Given the description of an element on the screen output the (x, y) to click on. 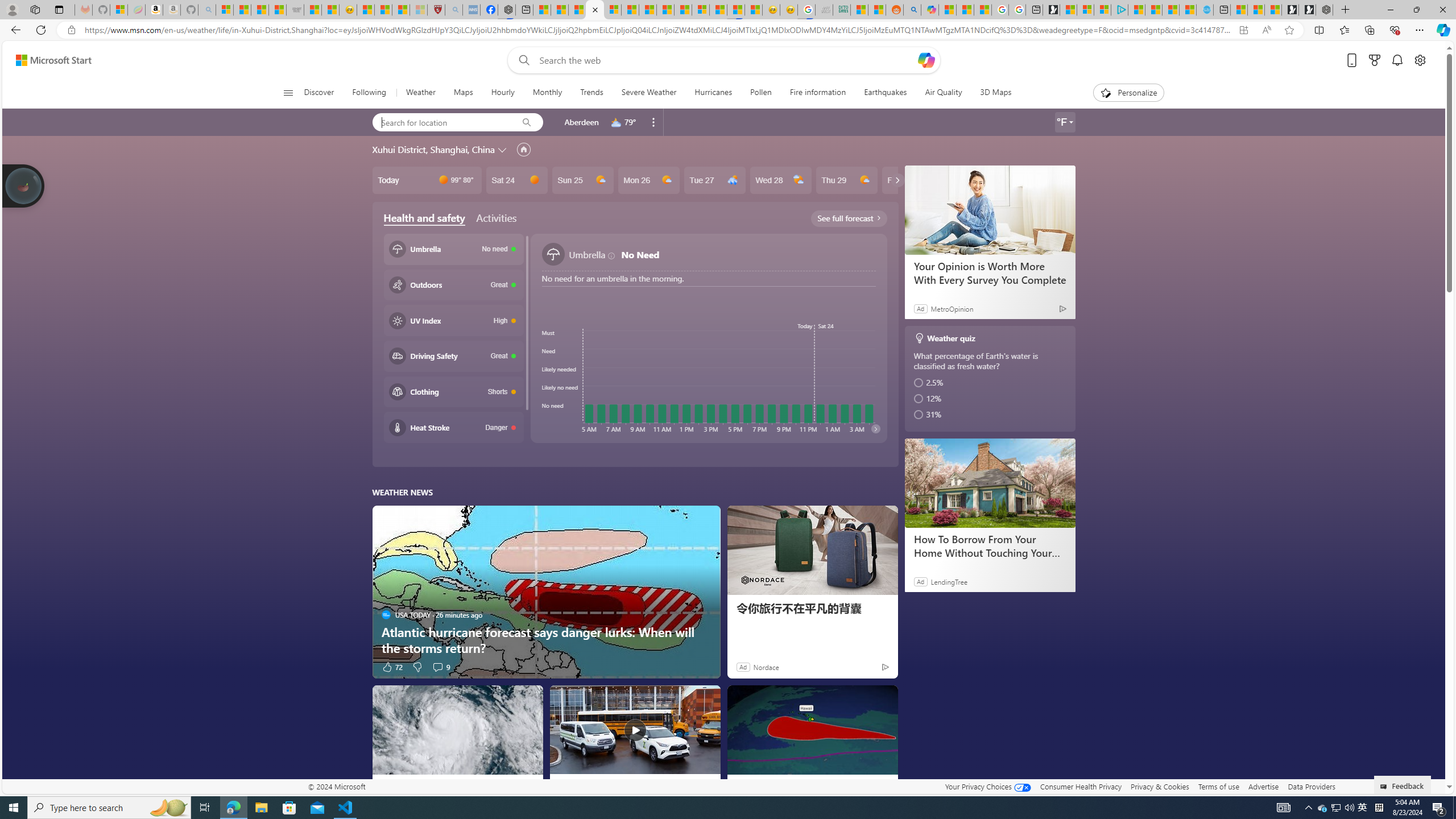
Minimize (1390, 9)
View site information (70, 29)
New tab (1221, 9)
Microsoft Start (53, 60)
Fire information (818, 92)
Hurricanes (713, 92)
Xuhui District, Shanghai, China (433, 149)
Nordace (765, 666)
NCL Adult Asthma Inhaler Choice Guideline - Sleeping (470, 9)
Set as primary location (522, 149)
Dislike (417, 666)
App available. Install Microsoft Start Weather (1243, 29)
